Given the description of an element on the screen output the (x, y) to click on. 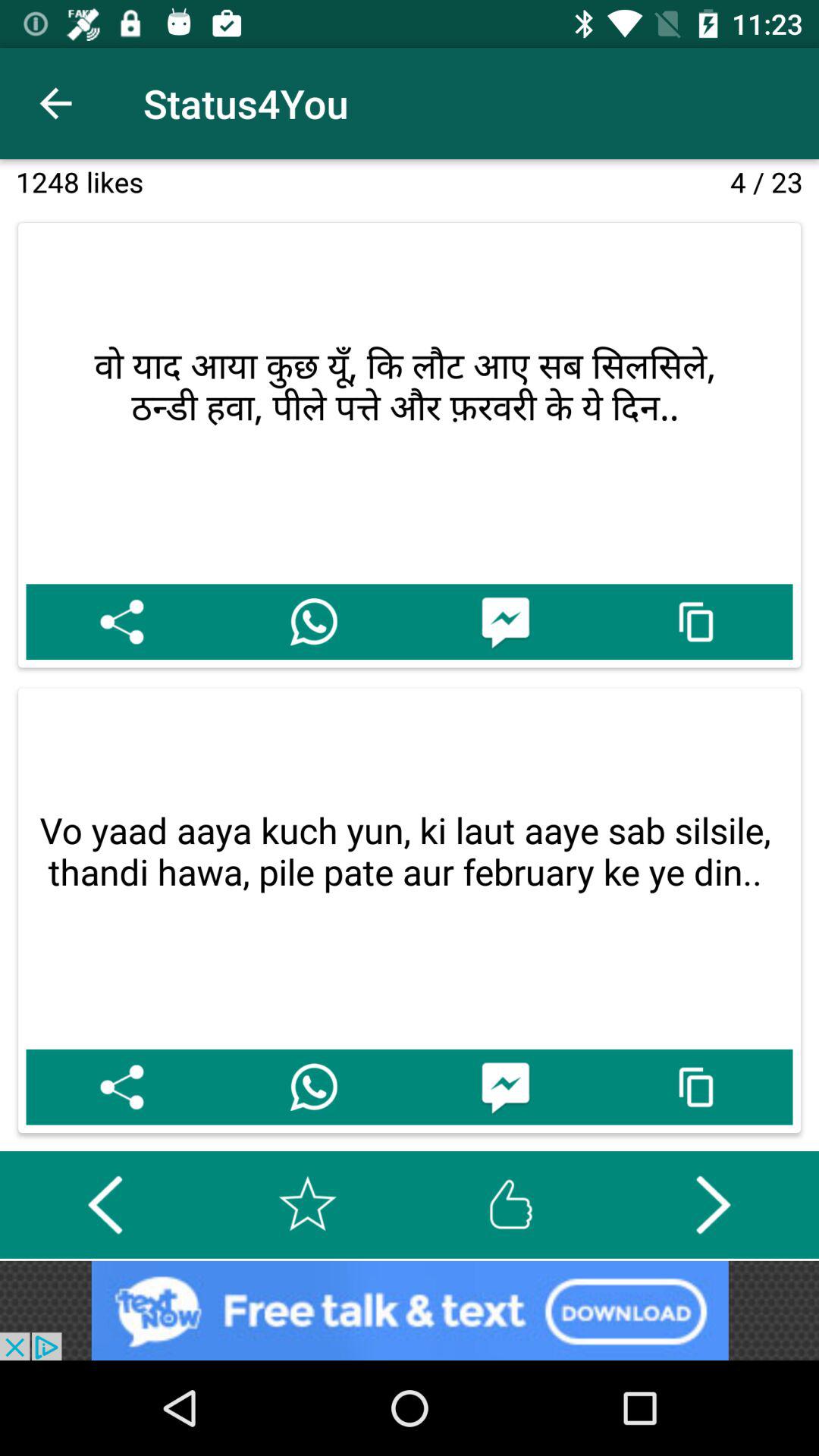
send as a text message (505, 1086)
